Given the description of an element on the screen output the (x, y) to click on. 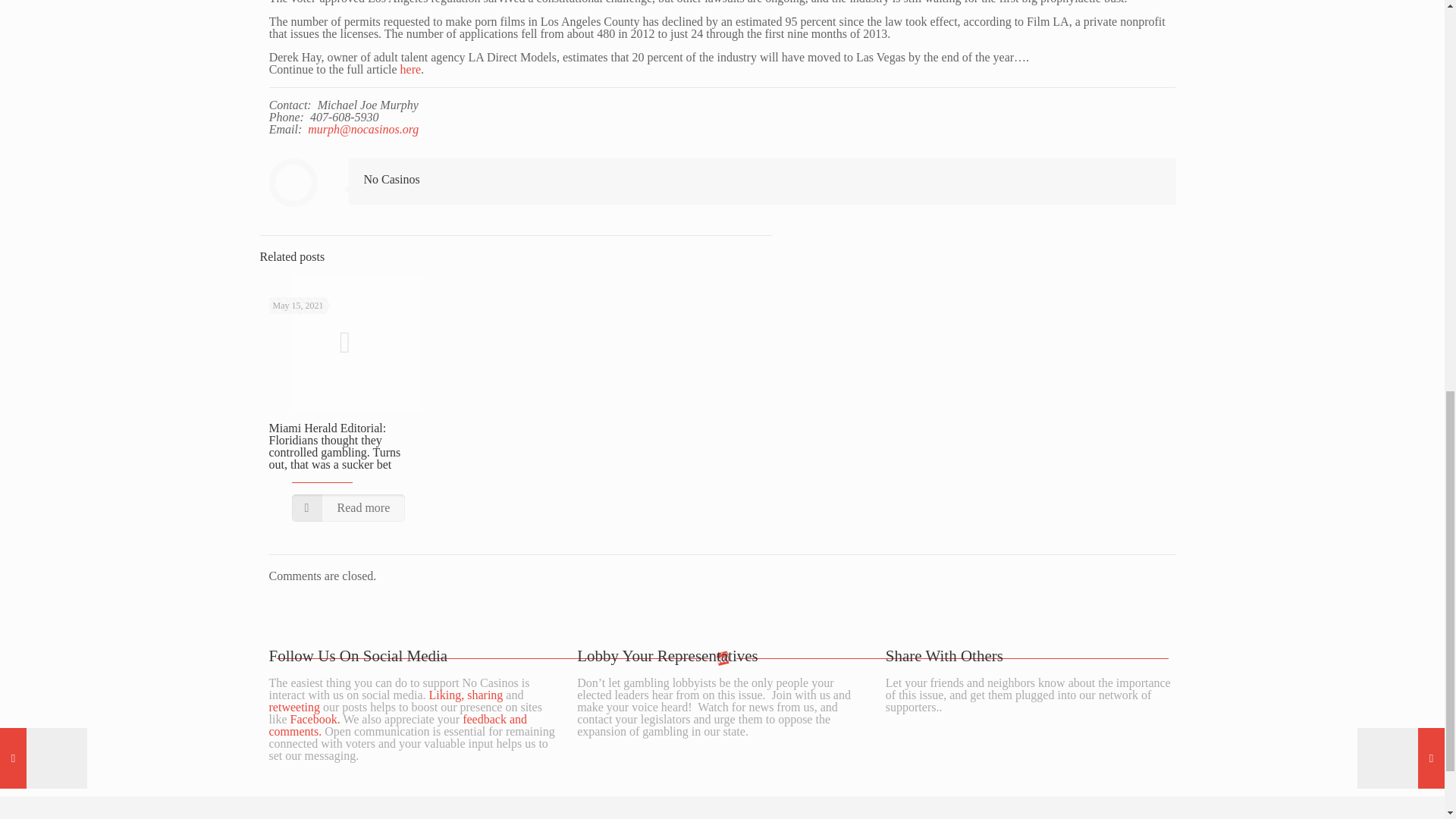
Facebook. (314, 718)
retweeting (293, 707)
feedback and comments. (397, 724)
No Casinos (392, 178)
sharing (484, 694)
Read more (347, 507)
Liking, (446, 694)
here (411, 69)
